Given the description of an element on the screen output the (x, y) to click on. 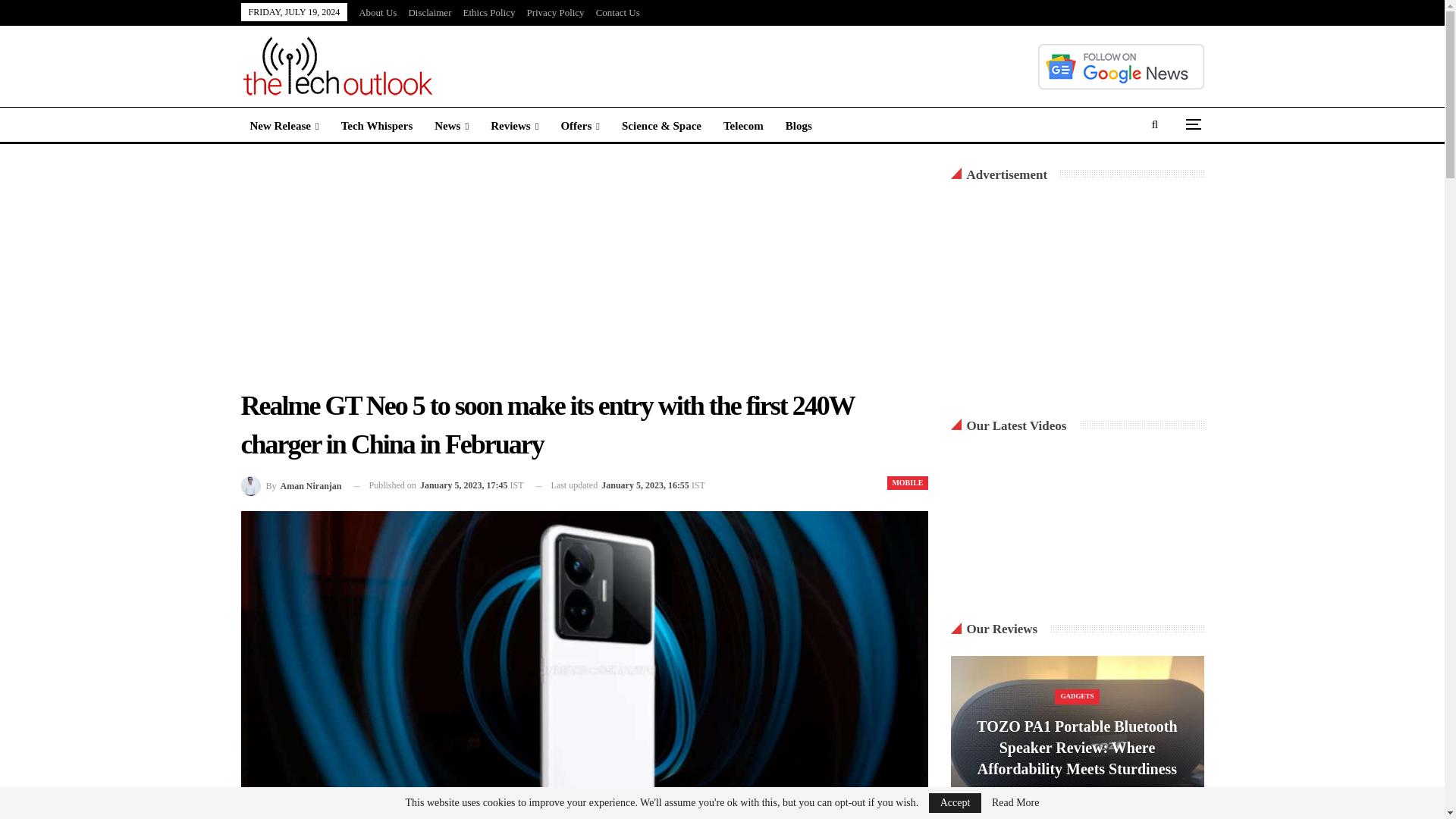
Browse Author Articles (291, 485)
